Given the description of an element on the screen output the (x, y) to click on. 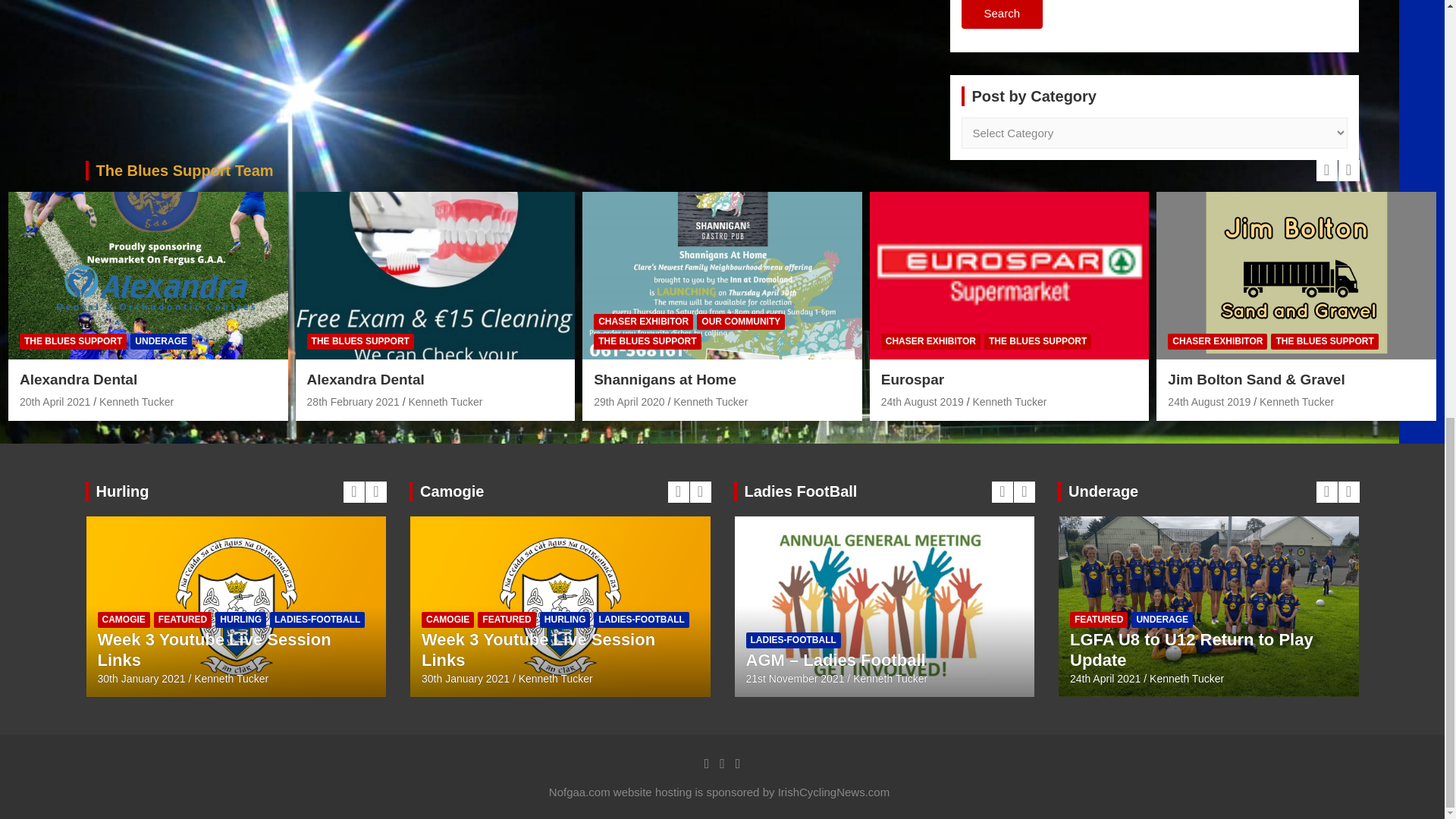
Search (1001, 14)
Eurospar (921, 401)
Alexandra Dental (352, 401)
Search (1001, 14)
Shannigans at Home (628, 401)
Search (1001, 14)
Alexandra Dental (55, 401)
